Given the description of an element on the screen output the (x, y) to click on. 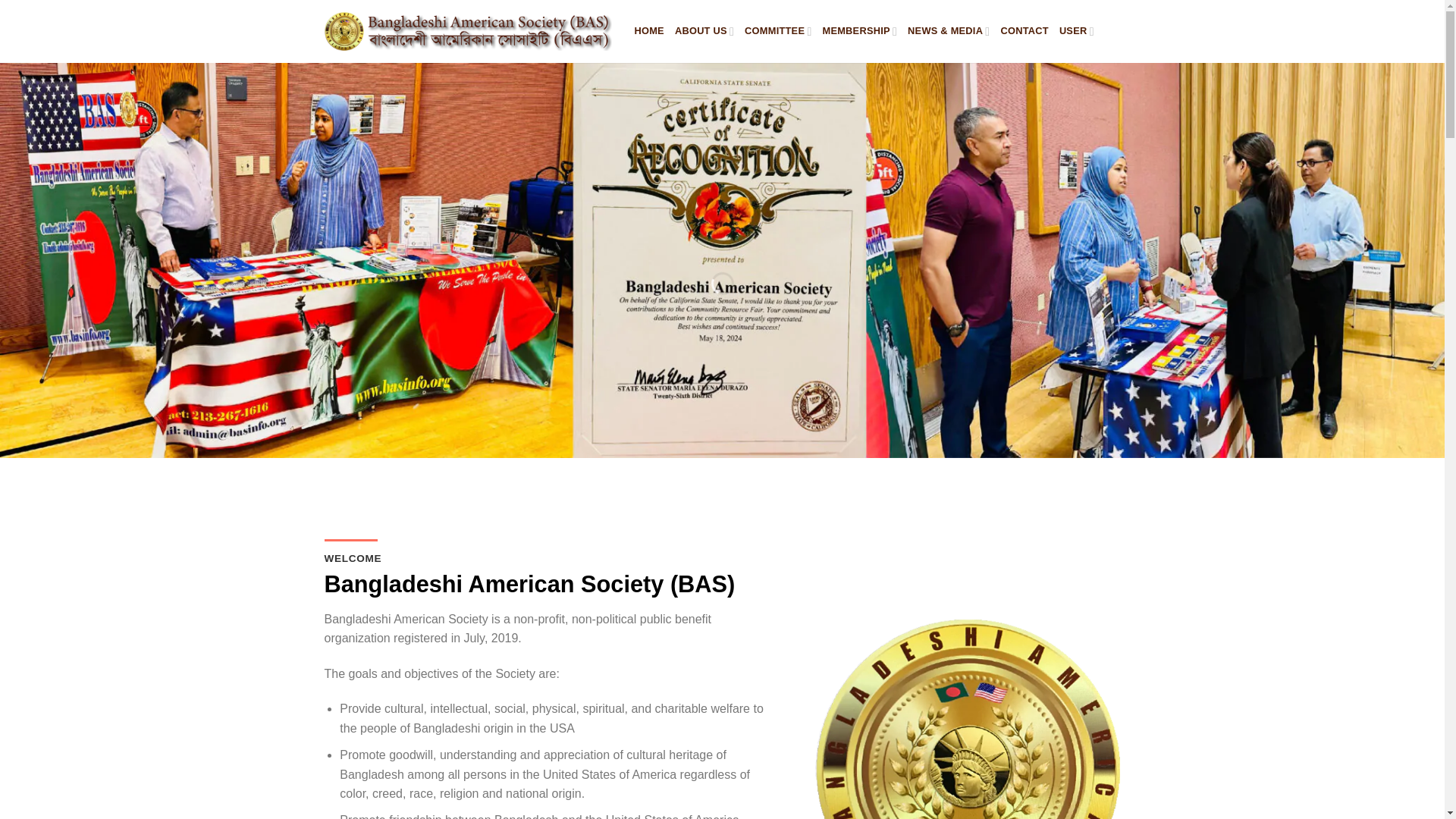
CONTACT (1024, 30)
USER (1076, 30)
COMMITTEE (777, 30)
HOME (648, 30)
MEMBERSHIP (859, 30)
ABOUT US (704, 30)
